Given the description of an element on the screen output the (x, y) to click on. 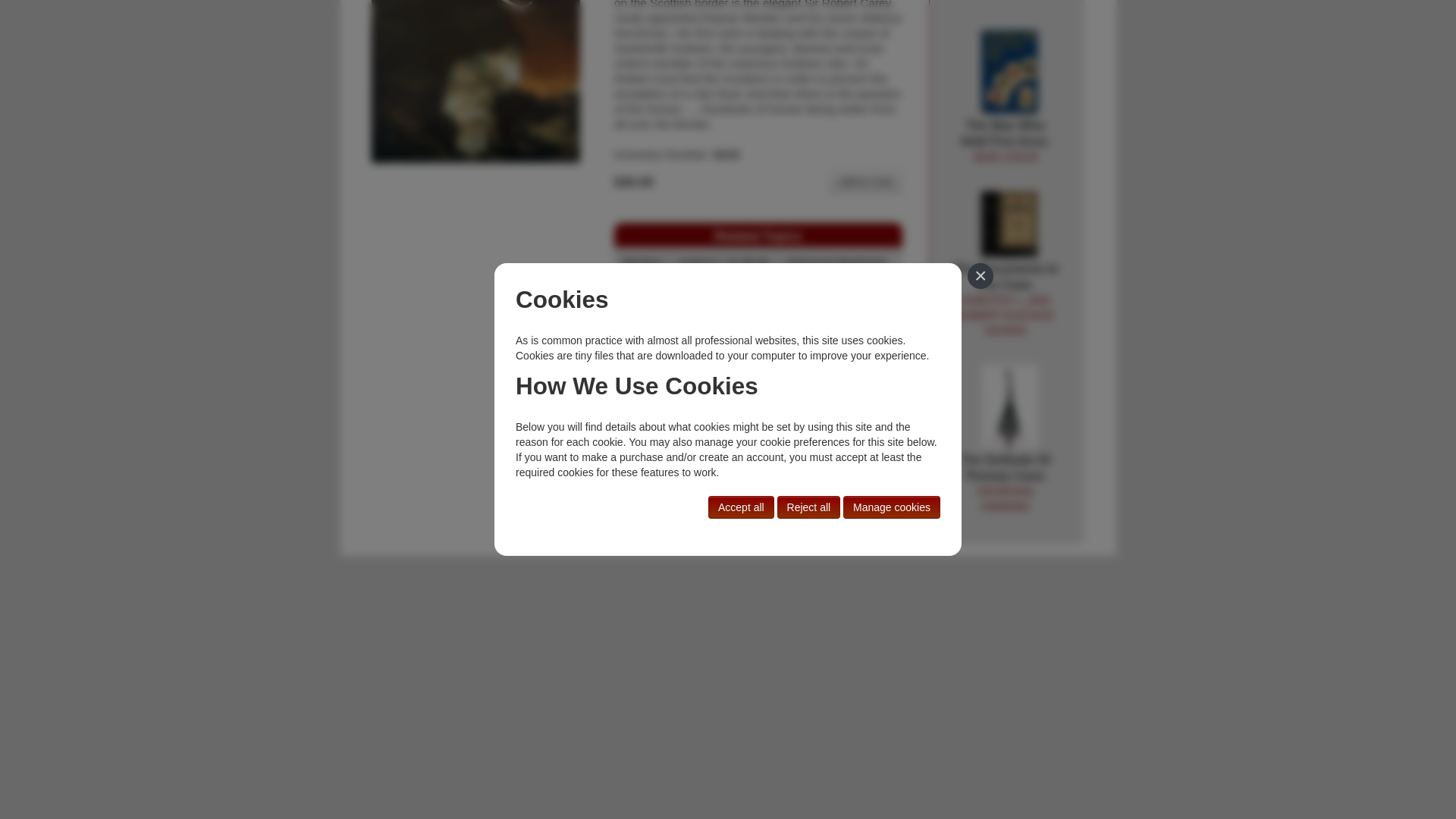
The Man Who Held Five Aces. (1004, 140)
The Solitude Of Thomas Cave. GEORGINA HARDING (1009, 407)
The Man Who Held Five Aces. JEAN LESLIE (1004, 140)
Mystery (1009, 72)
Author's 1st Book (641, 262)
Historical Mysteries (724, 262)
Add to Cart (836, 262)
The Solitude Of Thomas Cave. (865, 180)
The Documents In The Case. (1005, 483)
